Given the description of an element on the screen output the (x, y) to click on. 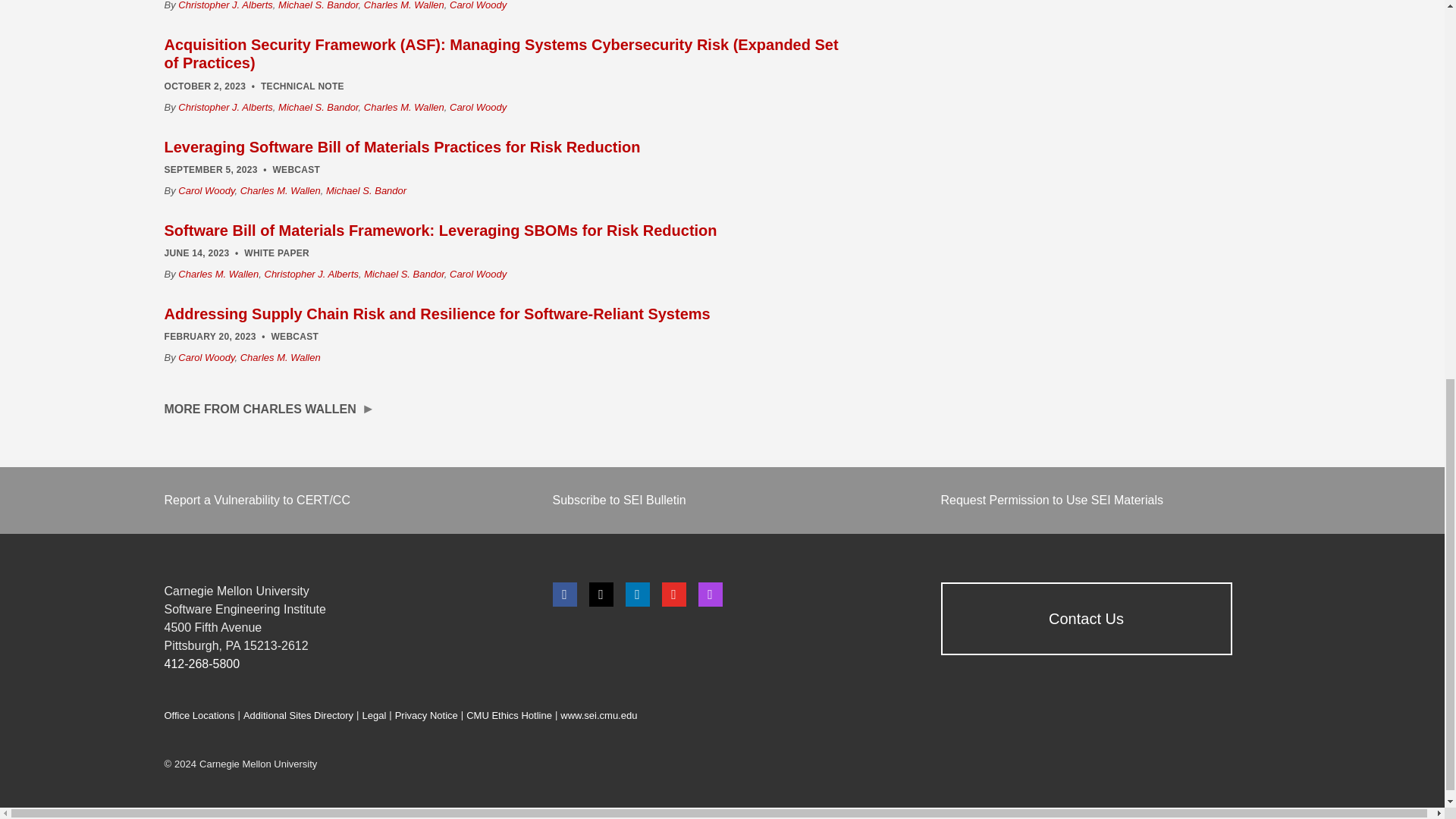
Visit the SEI on Apple Podcasts (709, 594)
Visit the SEI on YouTube (673, 594)
Visit the SEI on Facebook (563, 594)
Visit the SEI on LinkedIn (636, 594)
Visit the SEI on X (600, 594)
